Given the description of an element on the screen output the (x, y) to click on. 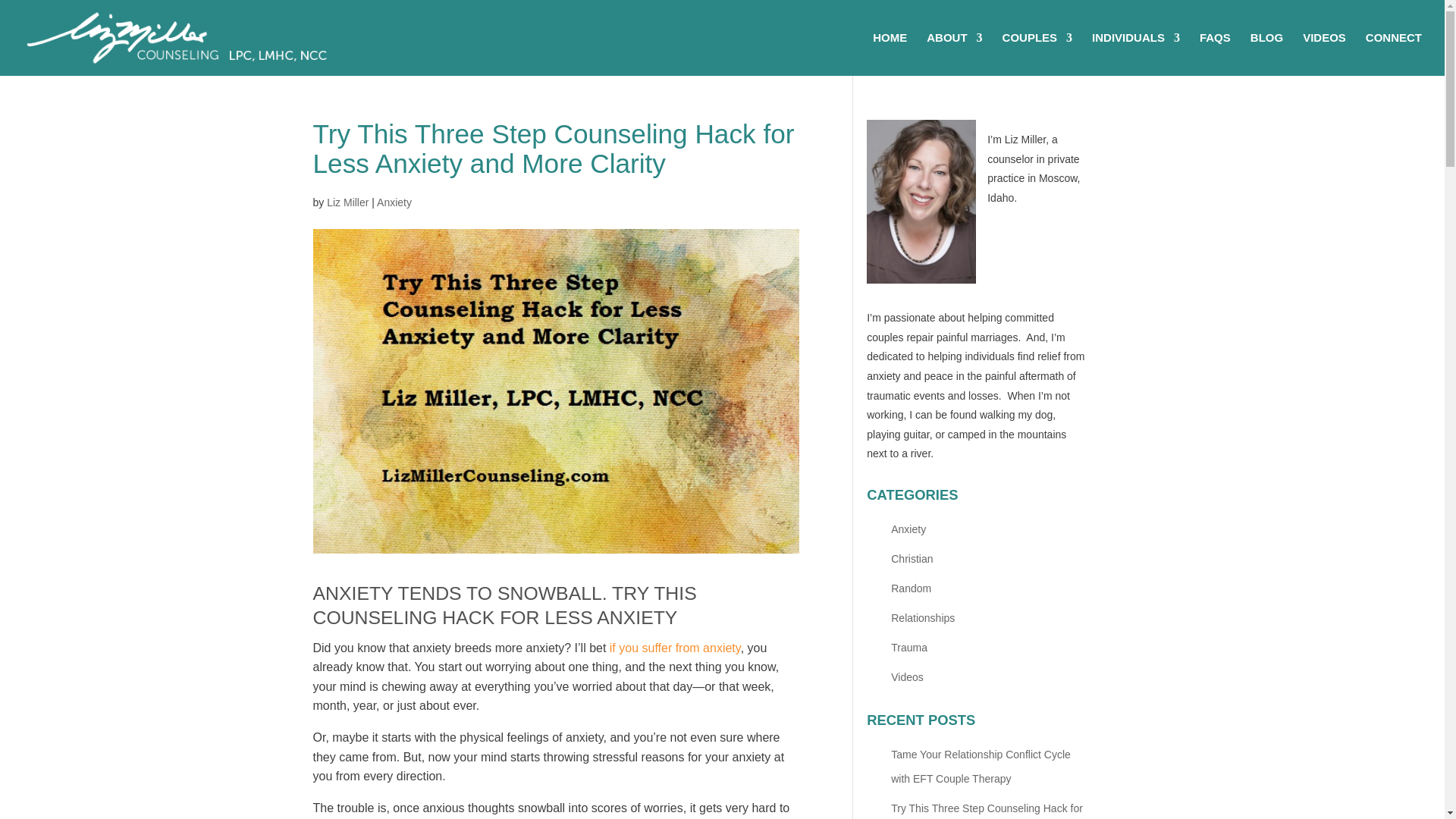
CONNECT (1393, 54)
INDIVIDUALS (1135, 54)
Liz Miller (347, 202)
Posts by Liz Miller (347, 202)
VIDEOS (1324, 54)
COUPLES (1038, 54)
ABOUT (953, 54)
